Given the description of an element on the screen output the (x, y) to click on. 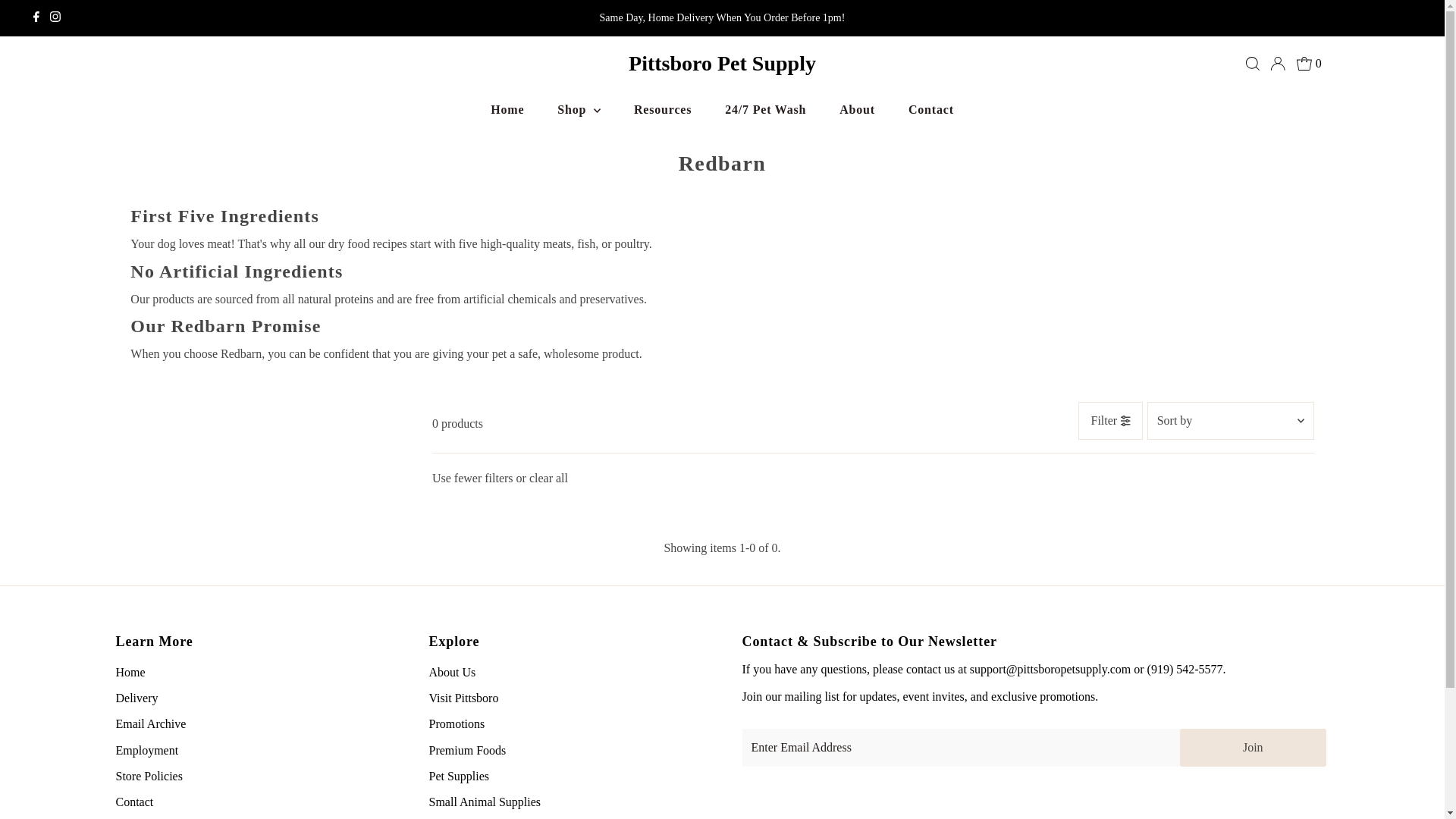
Join (1252, 747)
